Given the description of an element on the screen output the (x, y) to click on. 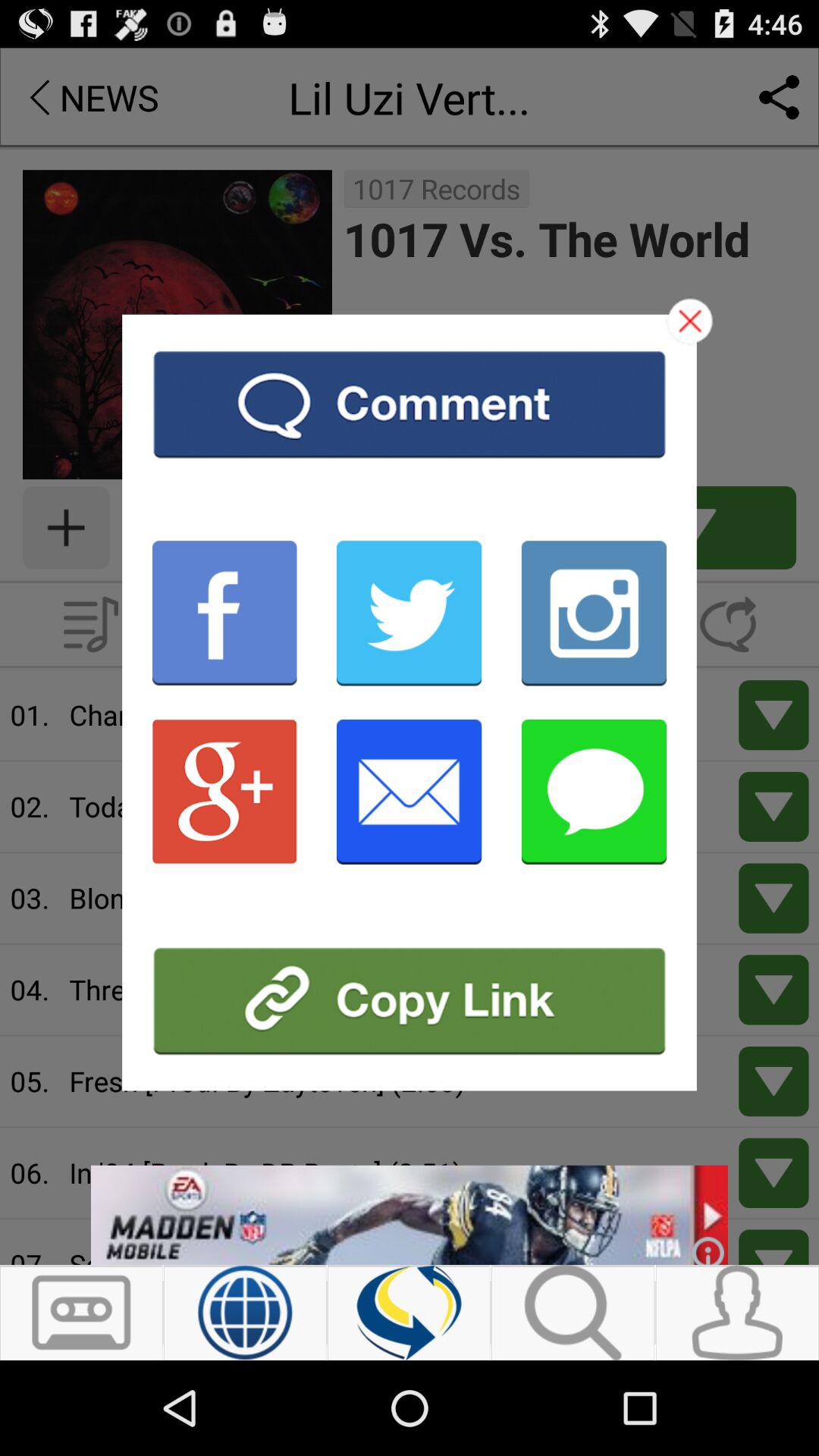
advertisement page (409, 1000)
